Given the description of an element on the screen output the (x, y) to click on. 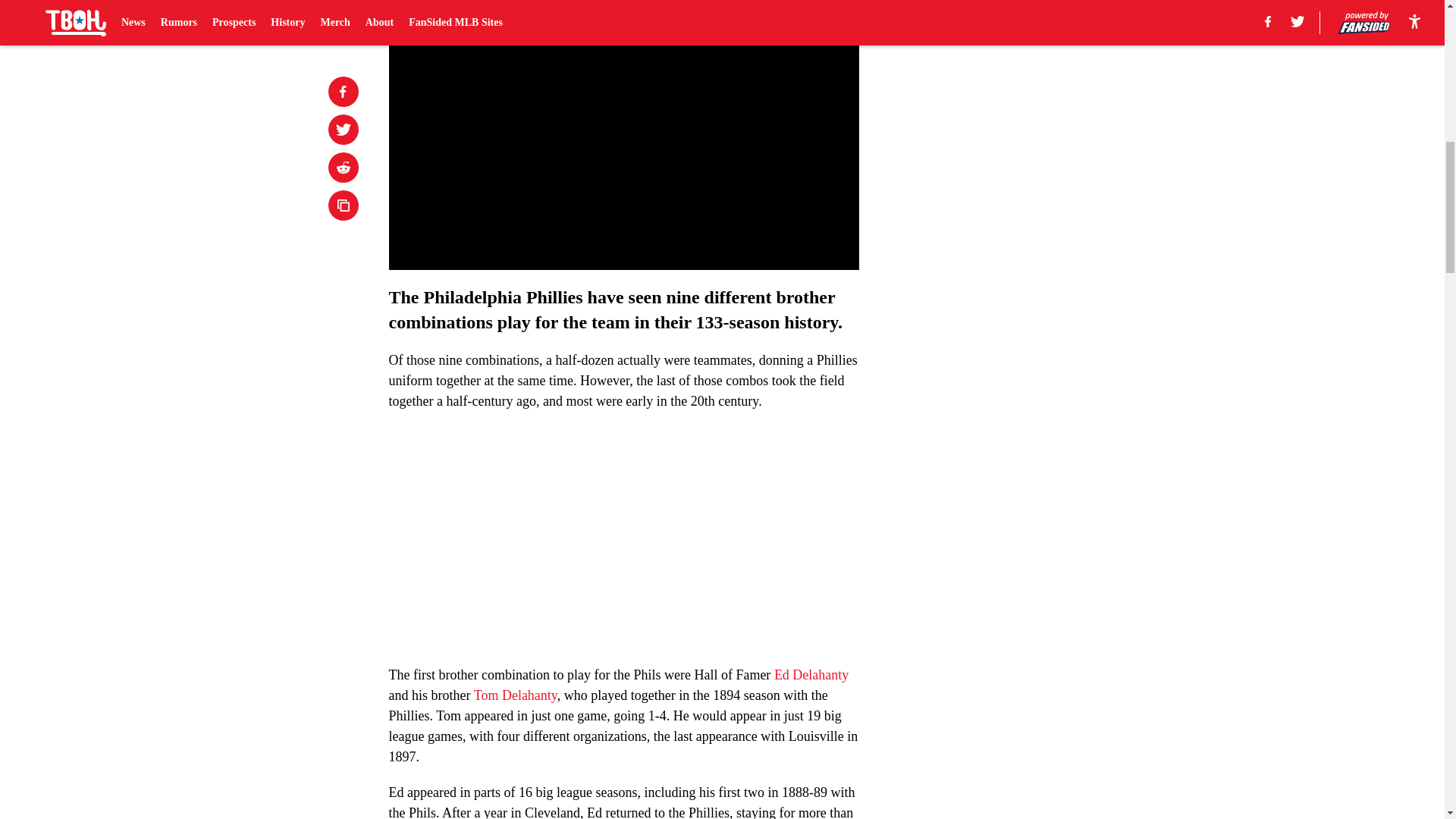
3rd party ad content (1047, 100)
Tom Delahanty (515, 694)
Ed Delahanty (811, 674)
3rd party ad content (1047, 320)
